Given the description of an element on the screen output the (x, y) to click on. 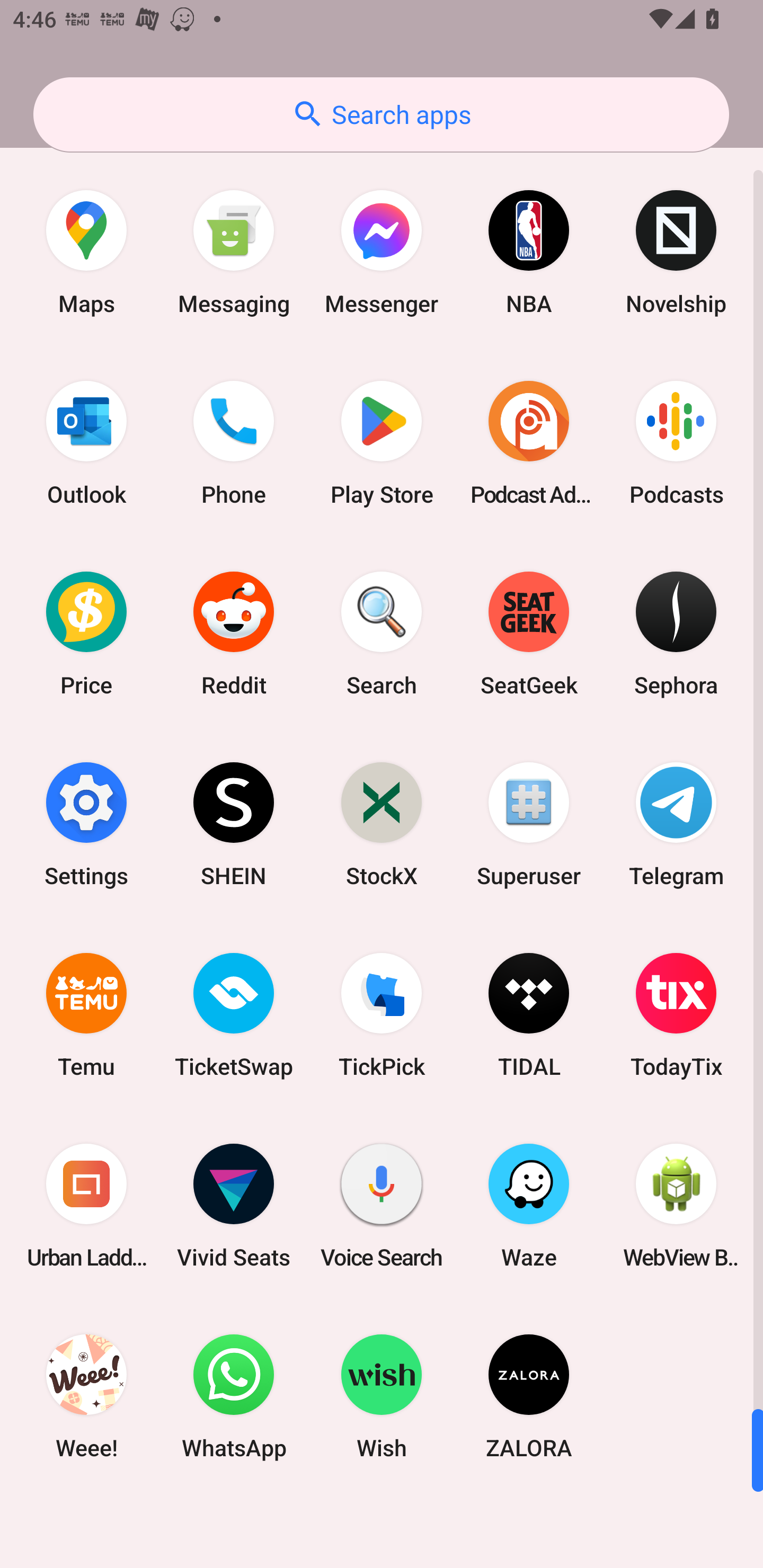
  Search apps (381, 114)
Maps (86, 252)
Messaging (233, 252)
Messenger (381, 252)
NBA (528, 252)
Novelship (676, 252)
Outlook (86, 442)
Phone (233, 442)
Play Store (381, 442)
Podcast Addict (528, 442)
Podcasts (676, 442)
Price (86, 633)
Reddit (233, 633)
Search (381, 633)
SeatGeek (528, 633)
Sephora (676, 633)
Settings (86, 823)
SHEIN (233, 823)
StockX (381, 823)
Superuser (528, 823)
Telegram (676, 823)
Temu (86, 1014)
TicketSwap (233, 1014)
TickPick (381, 1014)
TIDAL (528, 1014)
TodayTix (676, 1014)
Urban Ladder (86, 1205)
Vivid Seats (233, 1205)
Voice Search (381, 1205)
Waze (528, 1205)
WebView Browser Tester (676, 1205)
Weee! (86, 1396)
WhatsApp (233, 1396)
Wish (381, 1396)
ZALORA (528, 1396)
